Given the description of an element on the screen output the (x, y) to click on. 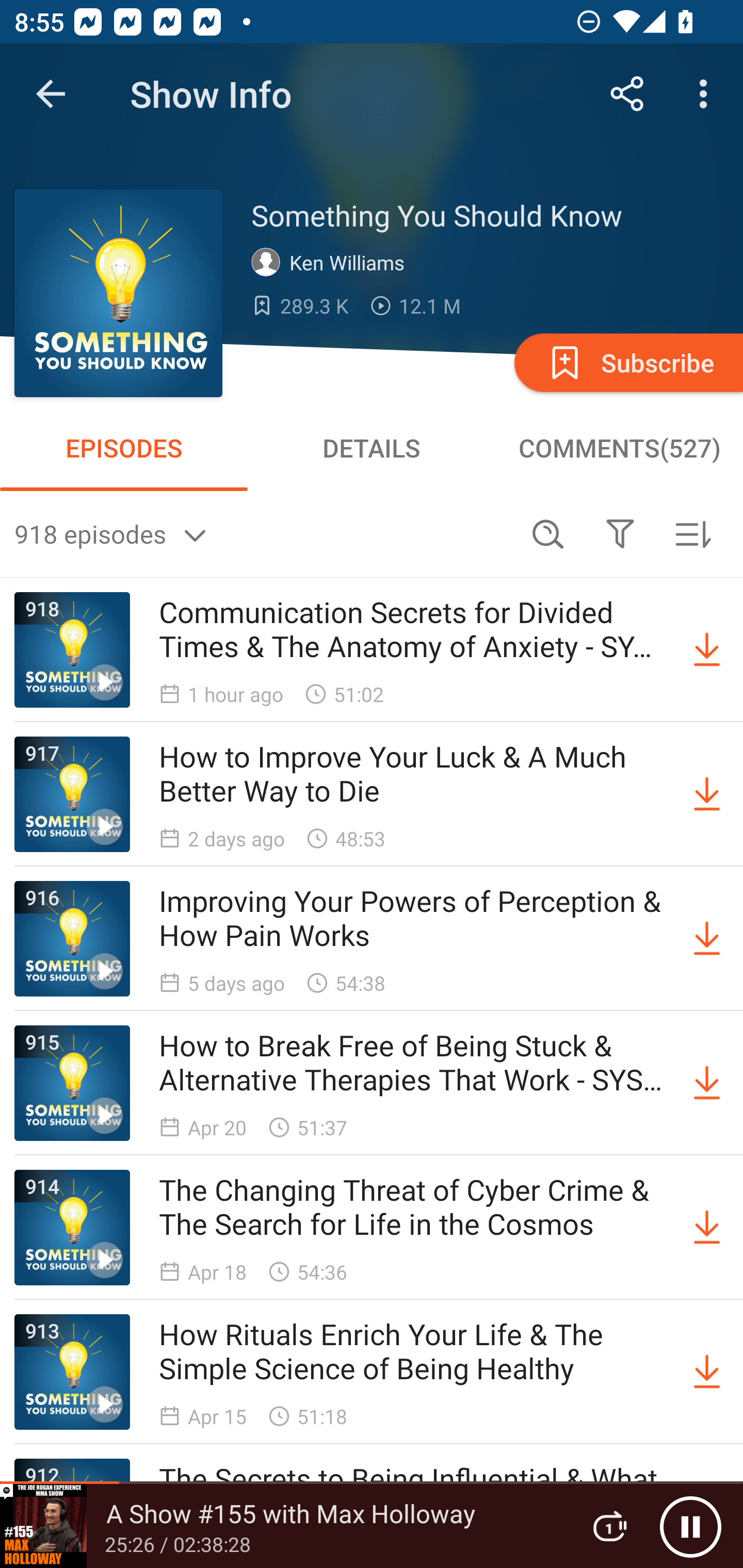
Navigate up (50, 93)
Share (626, 93)
More options (706, 93)
Ken Williams (332, 262)
Subscribe (627, 361)
EPISODES (123, 447)
DETAILS (371, 447)
COMMENTS(527) (619, 447)
918 episodes  (262, 533)
 Search (547, 533)
 (619, 533)
 Sorted by newest first (692, 533)
Download (706, 649)
Download (706, 793)
Download (706, 939)
Download (706, 1083)
Download (706, 1227)
Download (706, 1371)
Pause (690, 1526)
